Given the description of an element on the screen output the (x, y) to click on. 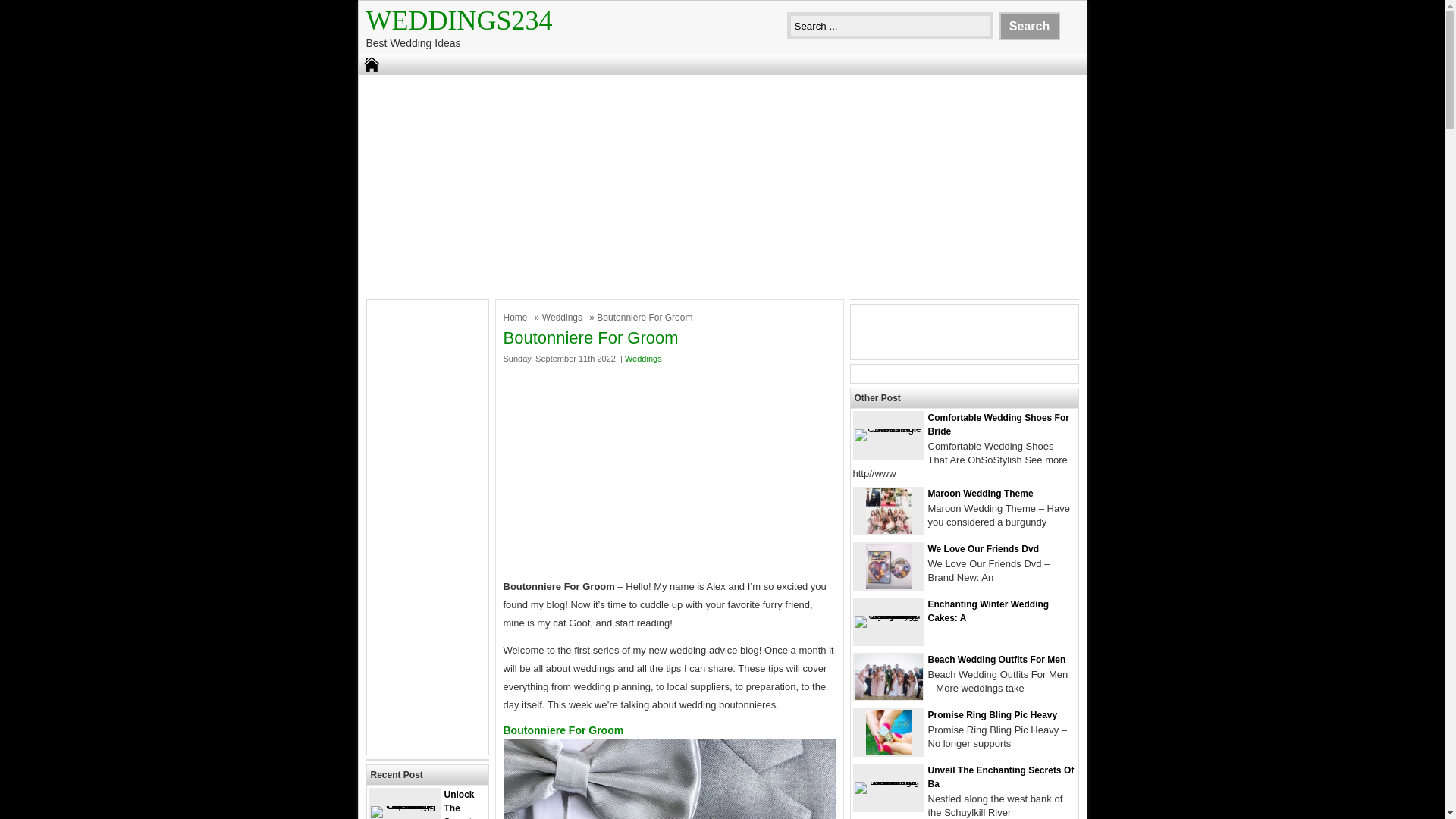
Advertisement (669, 471)
Boutonniere For Groom (669, 779)
Search ...  (889, 25)
Home (517, 317)
WEDDINGS234 (458, 20)
Weddings (643, 358)
Unlock The Secrets Of Captivating W (422, 804)
Weddings (563, 317)
Weddings (563, 317)
